Given the description of an element on the screen output the (x, y) to click on. 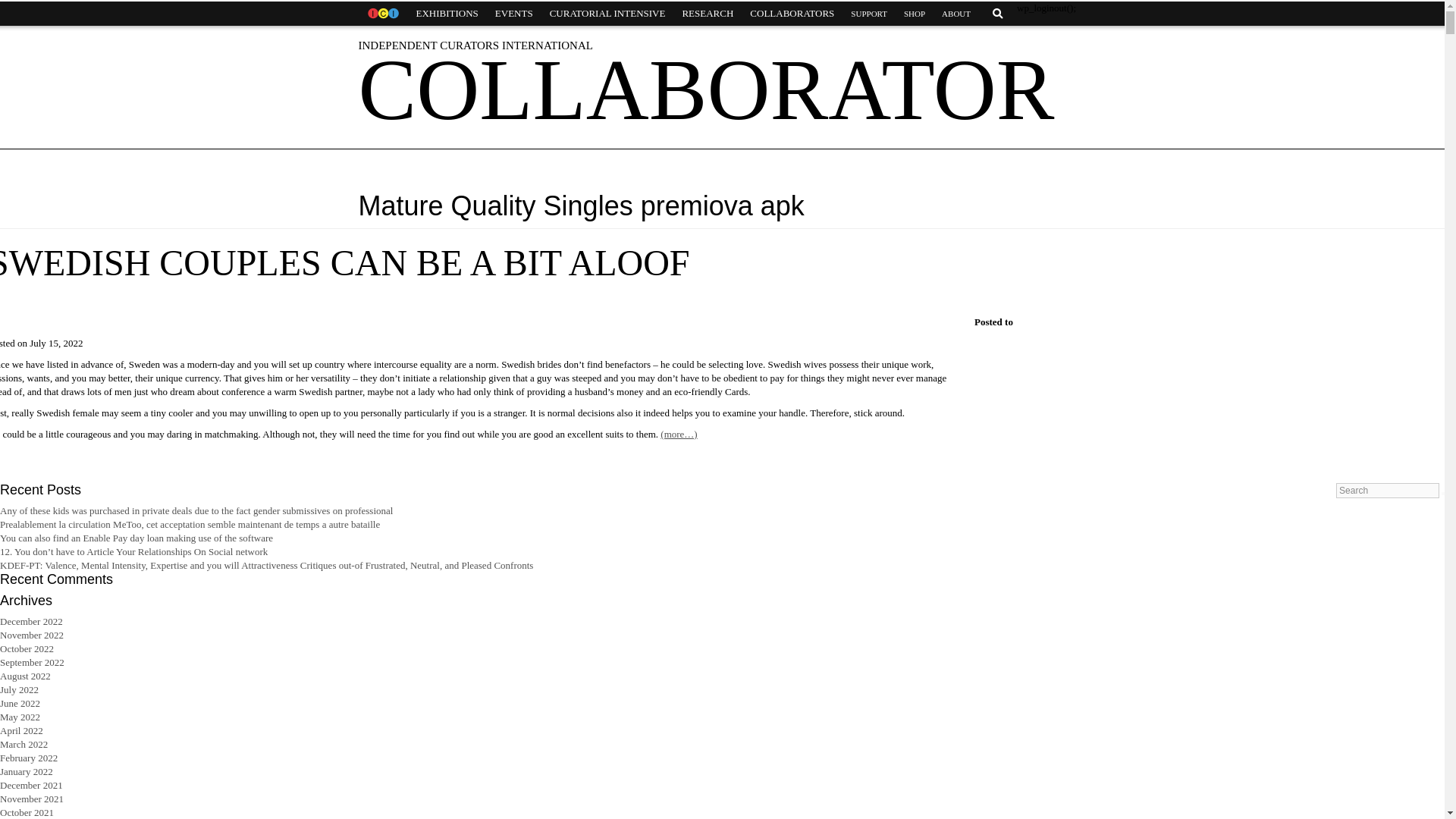
RESEARCH (706, 13)
EXHIBITIONS (446, 13)
CURATORIAL INTENSIVE (607, 13)
EVENTS (513, 13)
COLLABORATORS (792, 13)
HOME (382, 13)
